Given the description of an element on the screen output the (x, y) to click on. 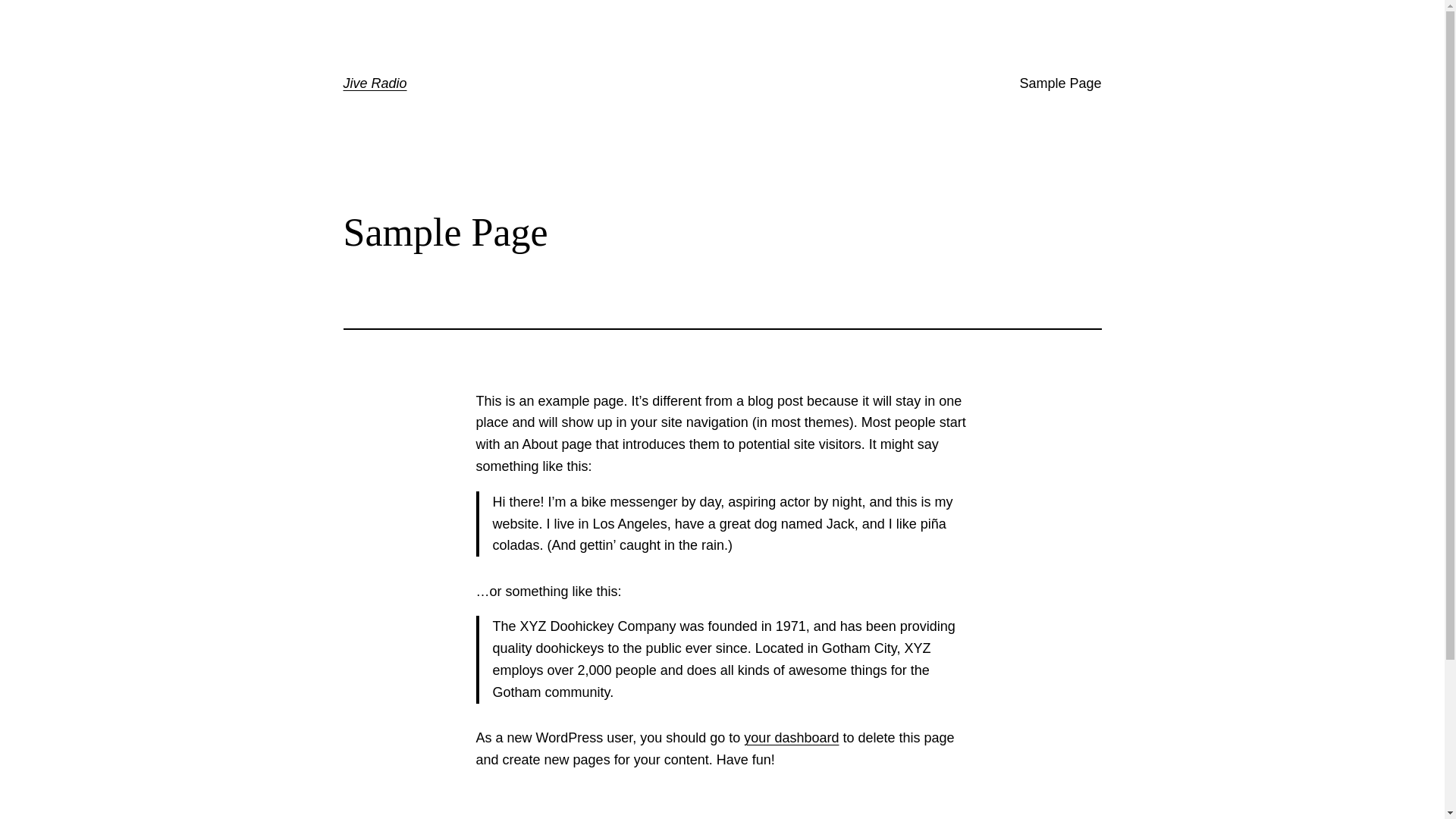
your dashboard Element type: text (790, 737)
Sample Page Element type: text (1060, 83)
Jive Radio Element type: text (374, 83)
